Given the description of an element on the screen output the (x, y) to click on. 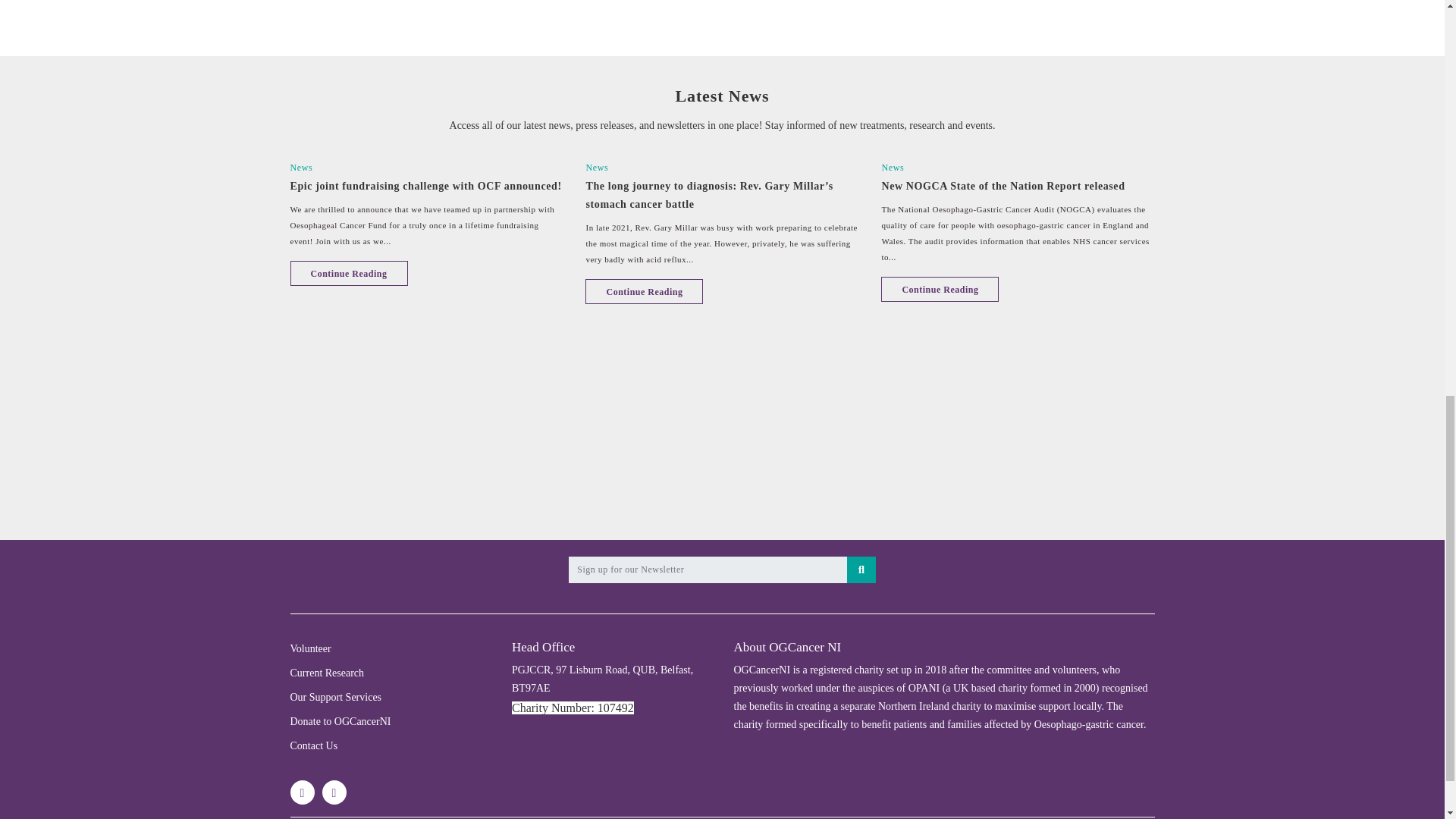
Donate to OGCancerNI (339, 721)
Our Support Services (335, 696)
Volunteer (309, 648)
Current Research (326, 672)
Continue Reading (939, 289)
Contact Us (313, 745)
Continue Reading (644, 291)
Continue Reading (348, 273)
